Given the description of an element on the screen output the (x, y) to click on. 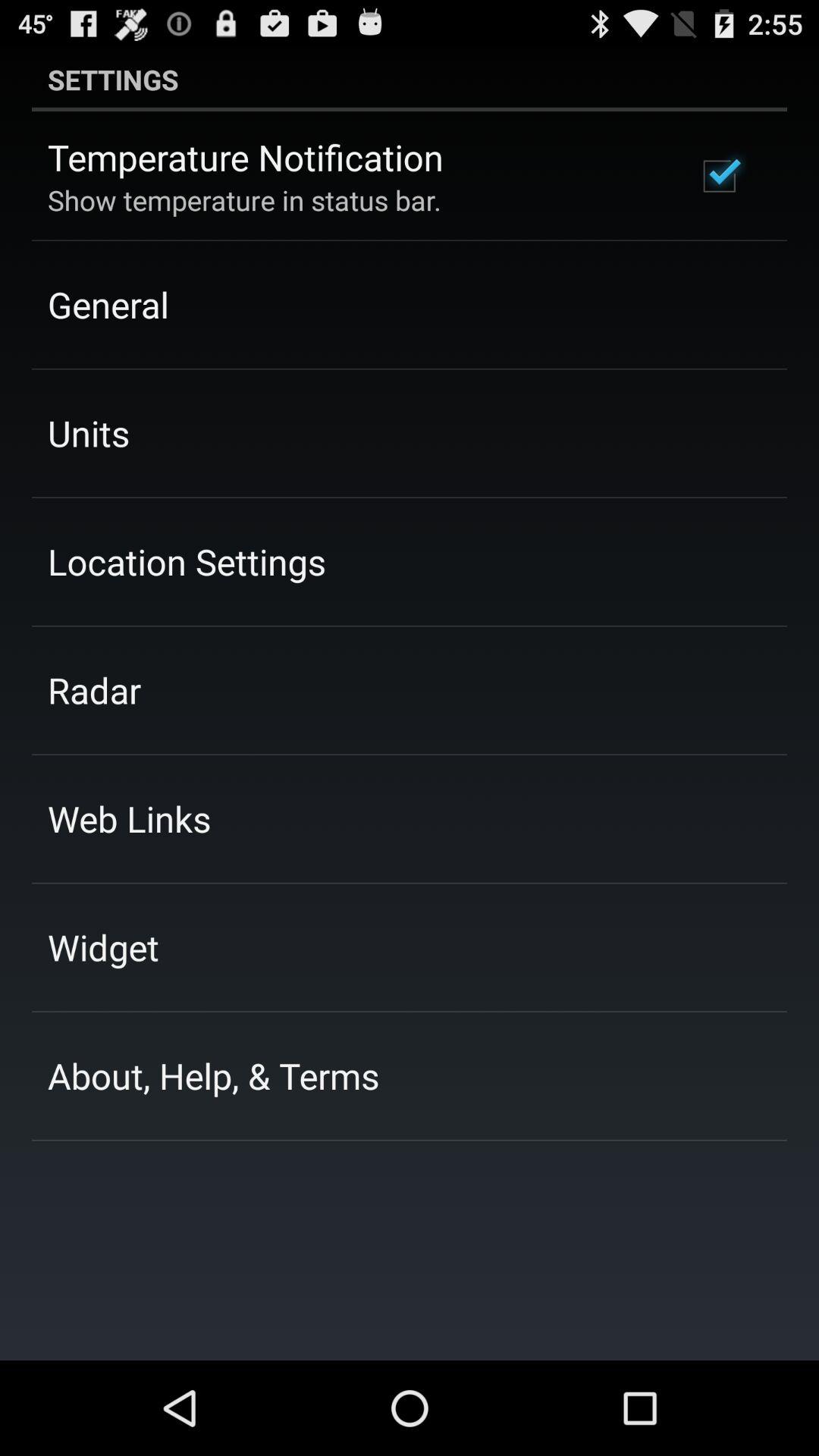
scroll to show temperature in item (244, 199)
